Given the description of an element on the screen output the (x, y) to click on. 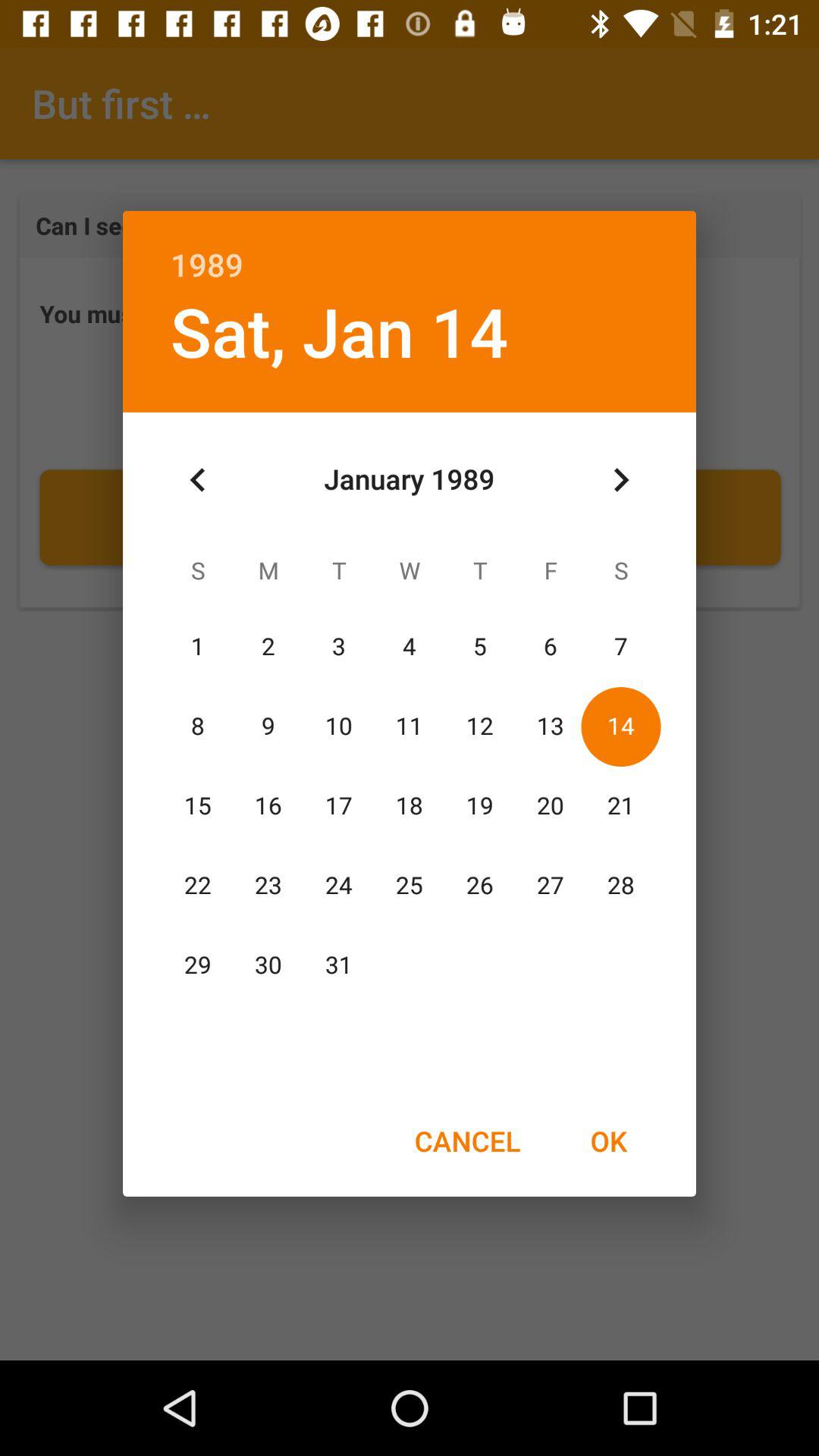
press the item at the top right corner (620, 479)
